Given the description of an element on the screen output the (x, y) to click on. 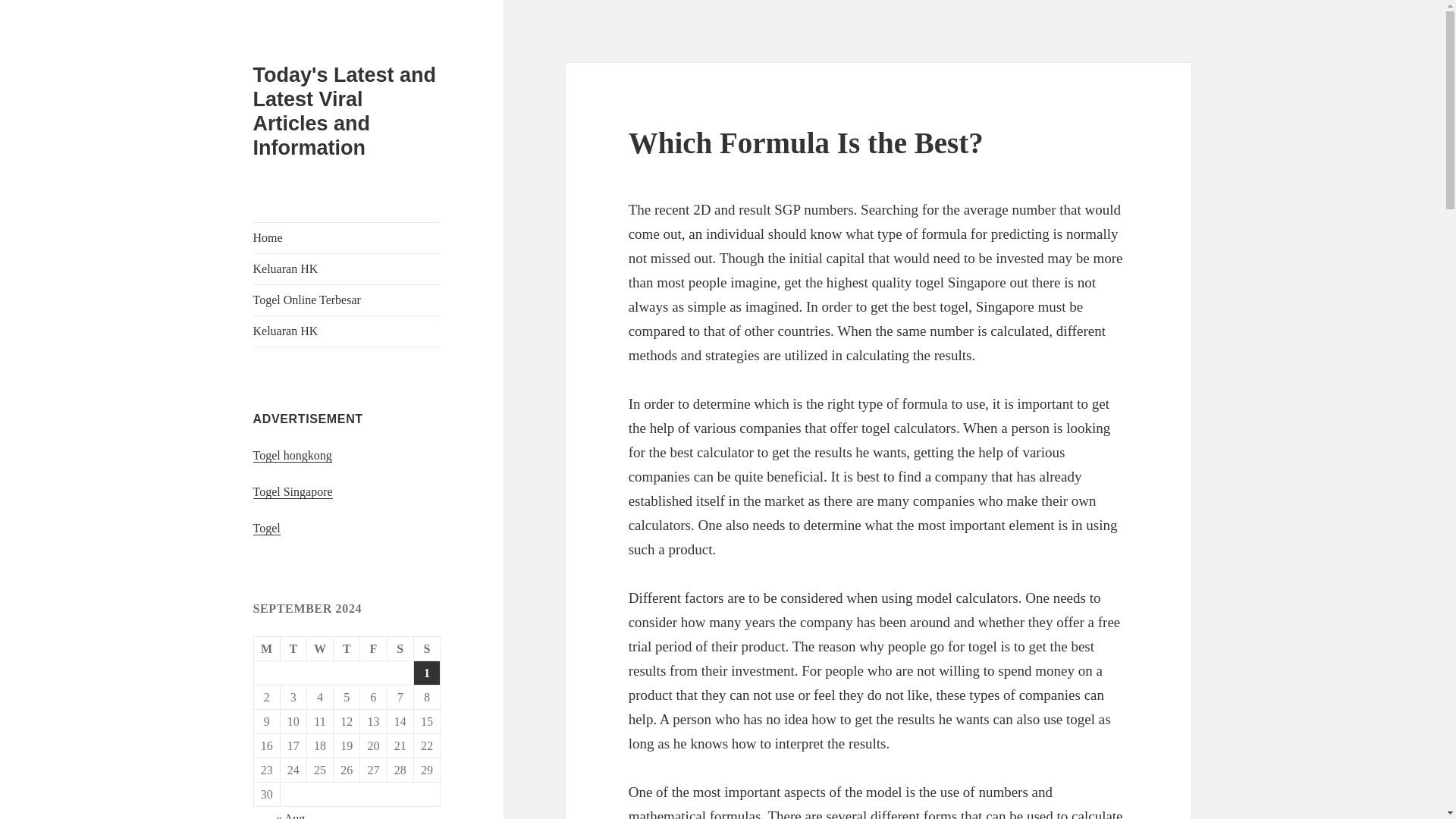
Thursday (346, 648)
Sunday (427, 648)
Togel (267, 528)
Monday (267, 648)
Togel hongkong (292, 455)
1 (426, 672)
Today's Latest and Latest Viral Articles and Information (344, 110)
Friday (373, 648)
Keluaran HK (347, 268)
Keluaran HK (347, 331)
